Given the description of an element on the screen output the (x, y) to click on. 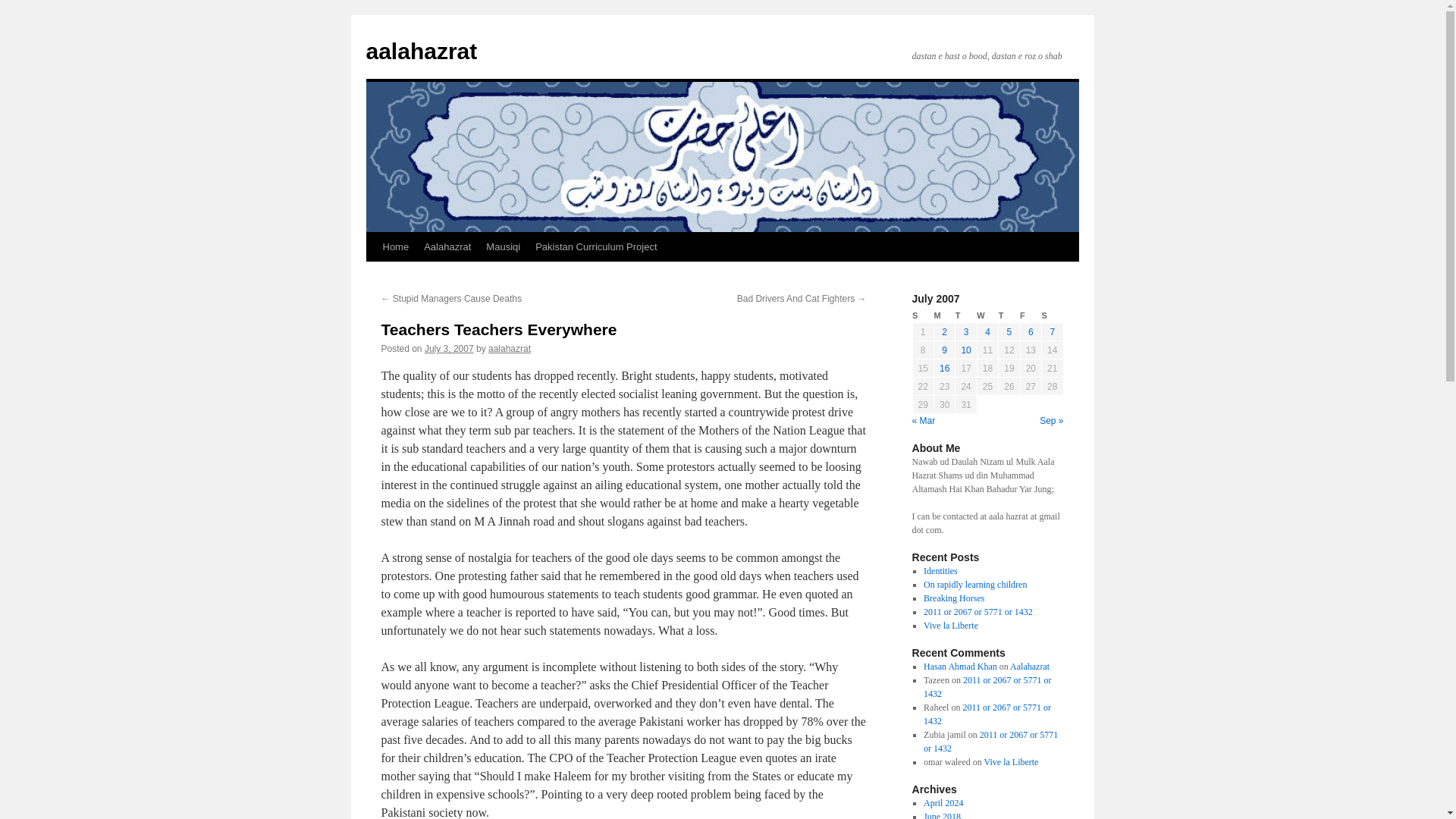
View all posts by aalahazrat (509, 348)
Tuesday (965, 315)
aalahazrat (509, 348)
Sunday (922, 315)
Wednesday (986, 315)
aalahazrat (421, 50)
Saturday (1052, 315)
Home (395, 246)
Thursday (1009, 315)
Friday (1030, 315)
